Given the description of an element on the screen output the (x, y) to click on. 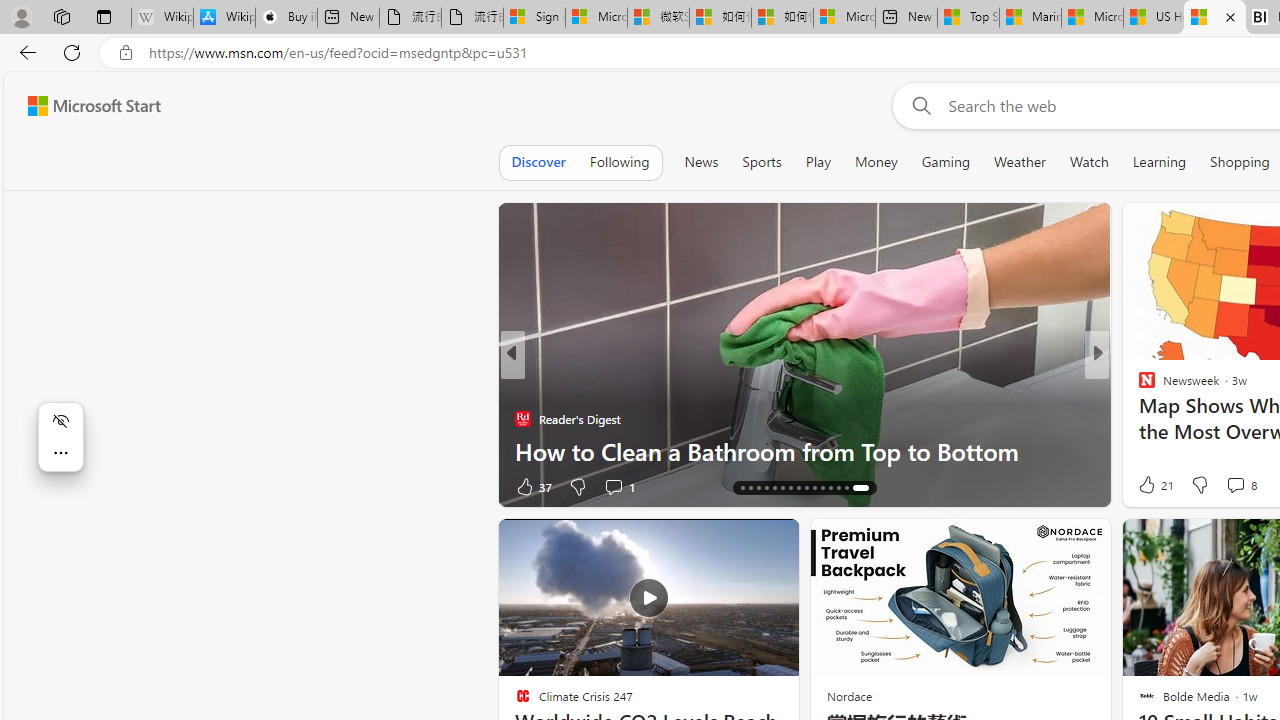
Microsoft account | Account Checkup (844, 17)
Hide this story (738, 542)
Sign in to your Microsoft account (534, 17)
AutomationID: tab-20 (786, 487)
Mini menu on text selection (60, 436)
Newsweek (1138, 386)
611 Like (1151, 486)
10 Like (1149, 486)
View comments 8 Comment (1234, 485)
Record number of Americans killed by heat in 2023: Research (804, 435)
